Given the description of an element on the screen output the (x, y) to click on. 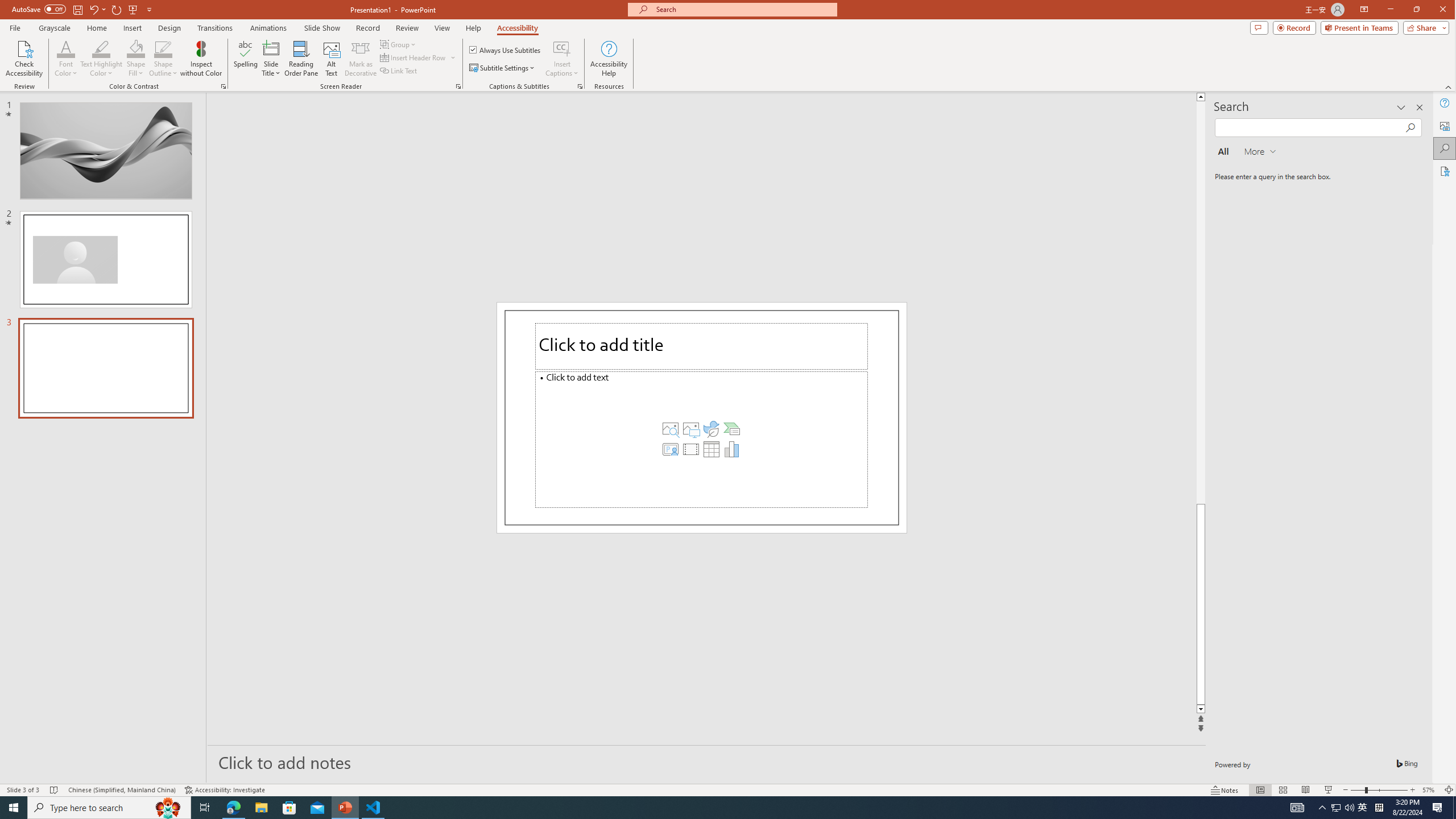
Insert Captions (561, 58)
Reading Order Pane (301, 58)
Subtitle Settings (502, 67)
Insert Header Row (413, 56)
Insert an Icon (710, 428)
Insert Table (710, 448)
